Given the description of an element on the screen output the (x, y) to click on. 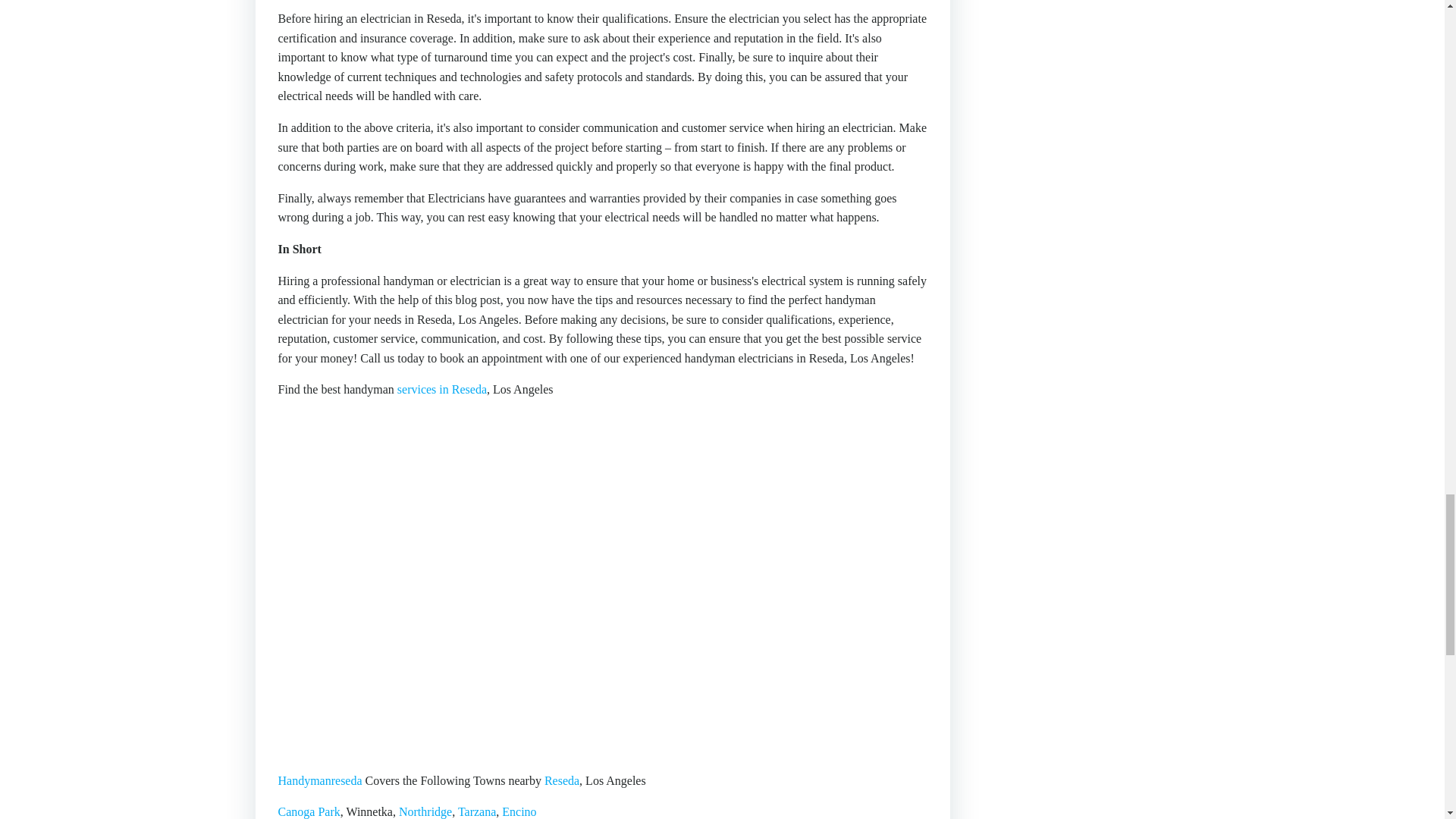
Northridge (424, 811)
Canoga Park (308, 811)
Encino (518, 811)
Reseda (561, 780)
services in Reseda (441, 389)
Handymanreseda (319, 780)
Tarzana (477, 811)
